Given the description of an element on the screen output the (x, y) to click on. 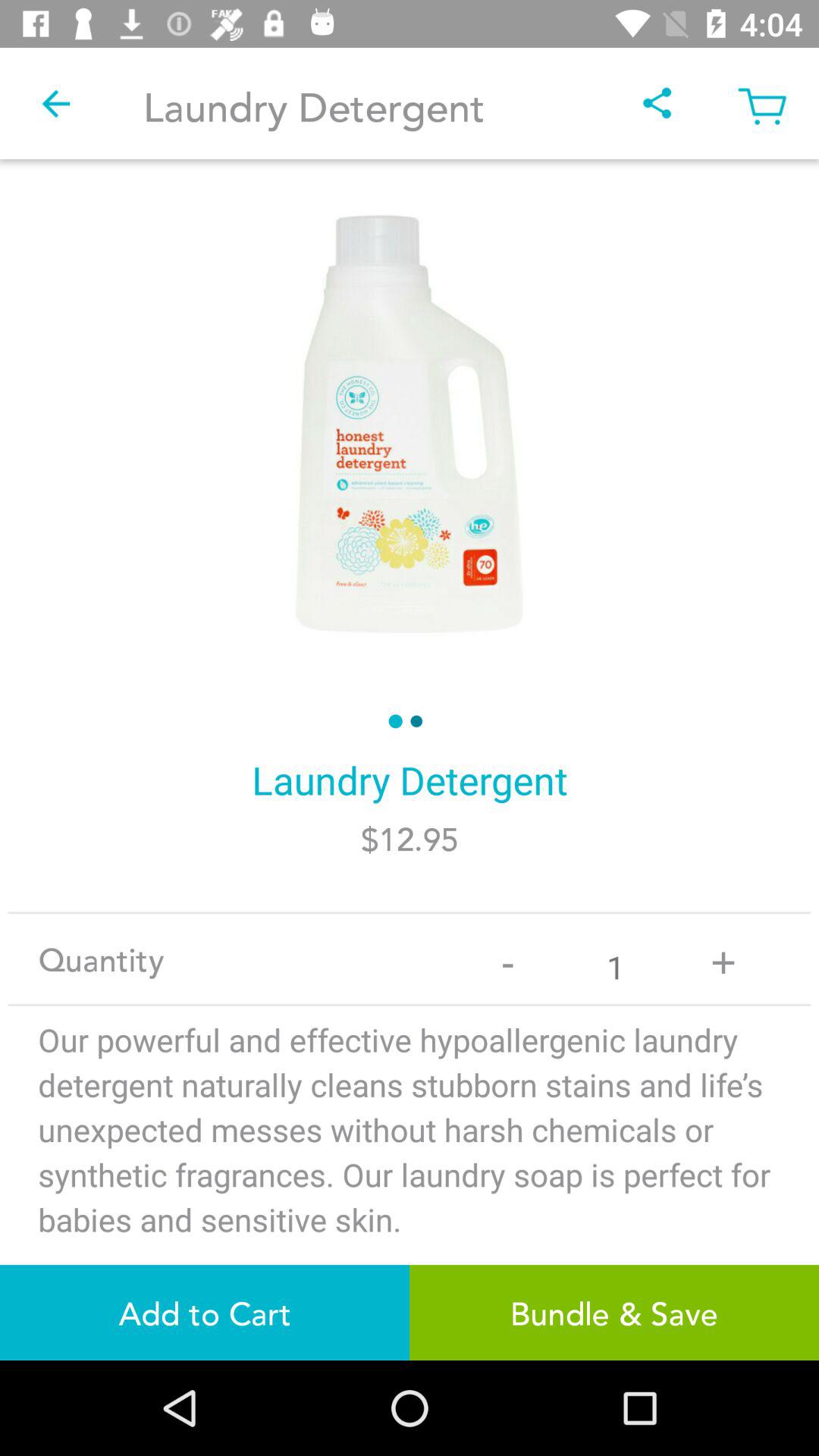
tap icon next to laundry detergent item (55, 103)
